Given the description of an element on the screen output the (x, y) to click on. 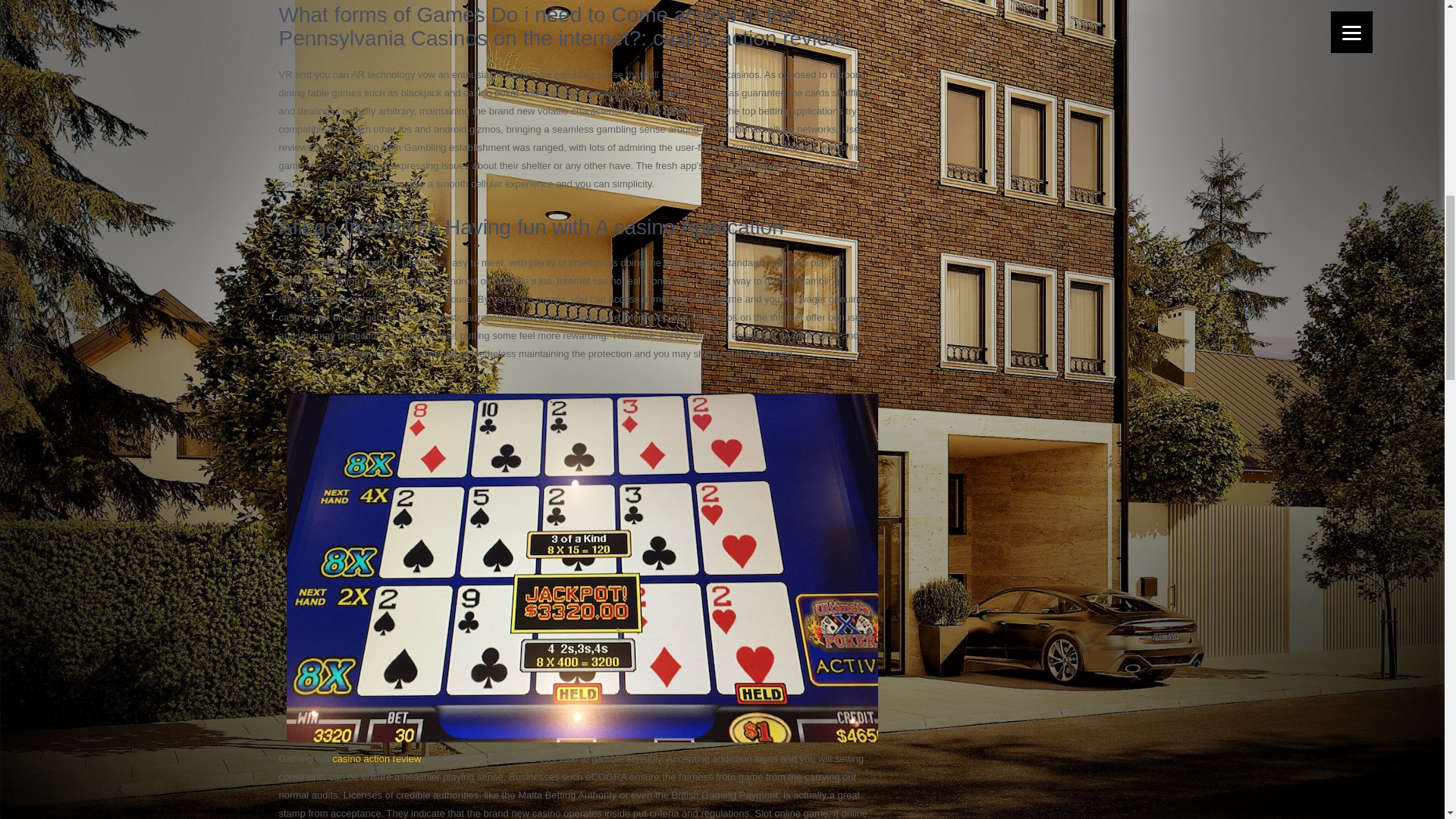
casino action review (375, 758)
